Given the description of an element on the screen output the (x, y) to click on. 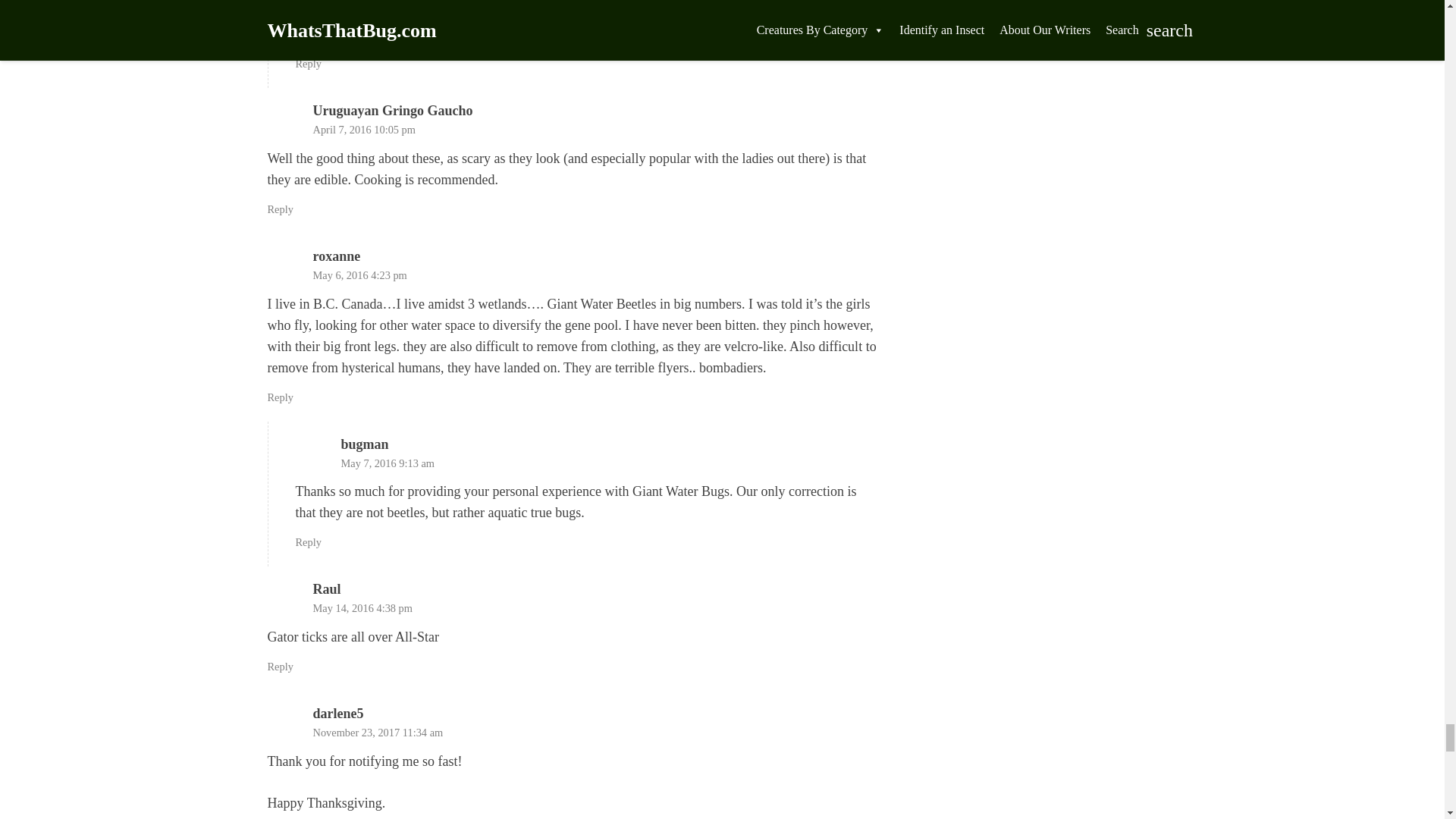
November 23, 2017 11:34 am (377, 732)
May 7, 2016 9:13 am (387, 463)
August 13, 2015 6:03 am (395, 6)
May 6, 2016 4:23 pm (359, 275)
April 7, 2016 10:05 pm (363, 129)
May 14, 2016 4:38 pm (362, 607)
